Given the description of an element on the screen output the (x, y) to click on. 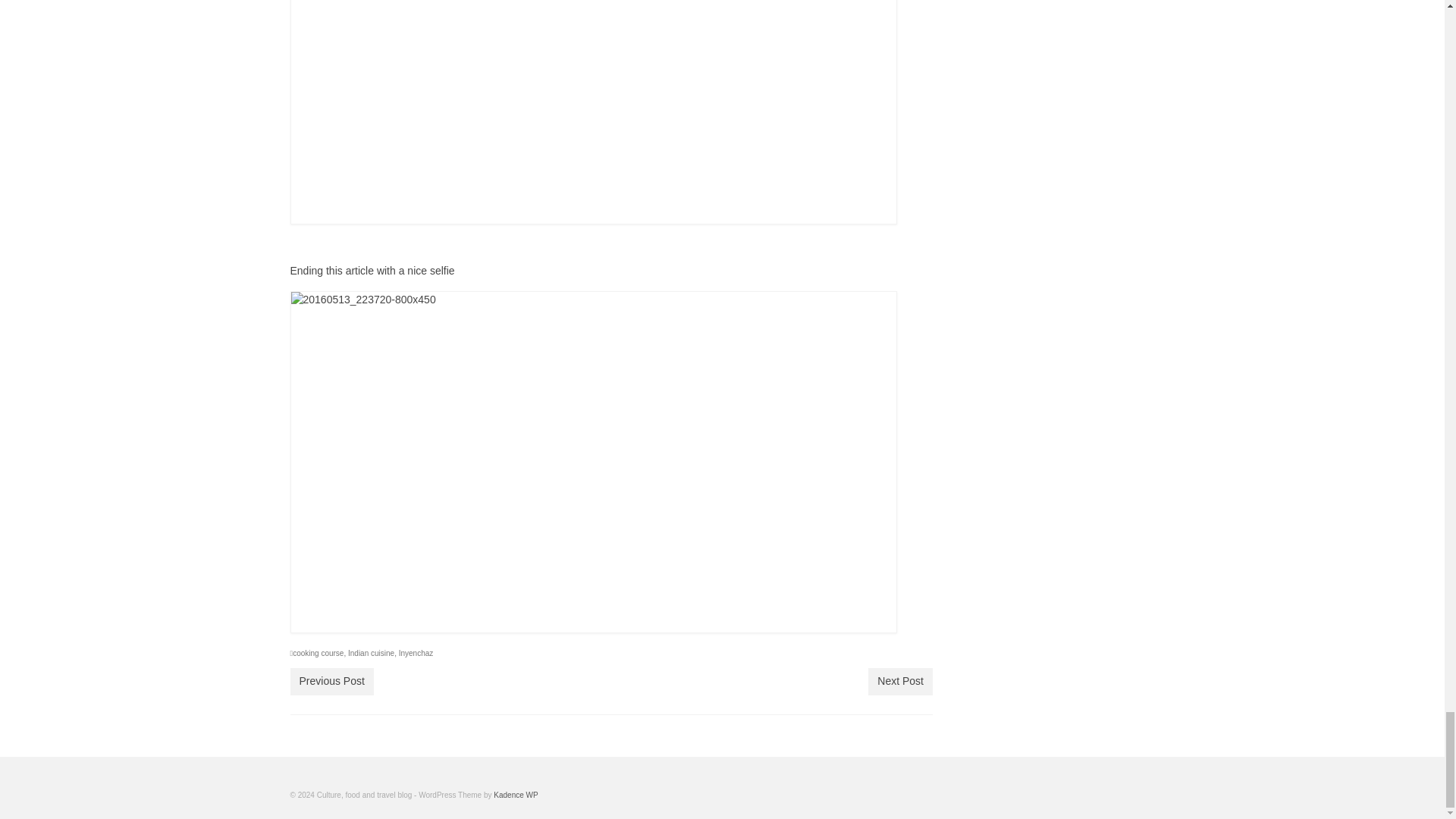
cooking course (317, 653)
Inyenchaz (415, 653)
Previous Post (330, 681)
Next Post (900, 681)
Indian cuisine (370, 653)
